Given the description of an element on the screen output the (x, y) to click on. 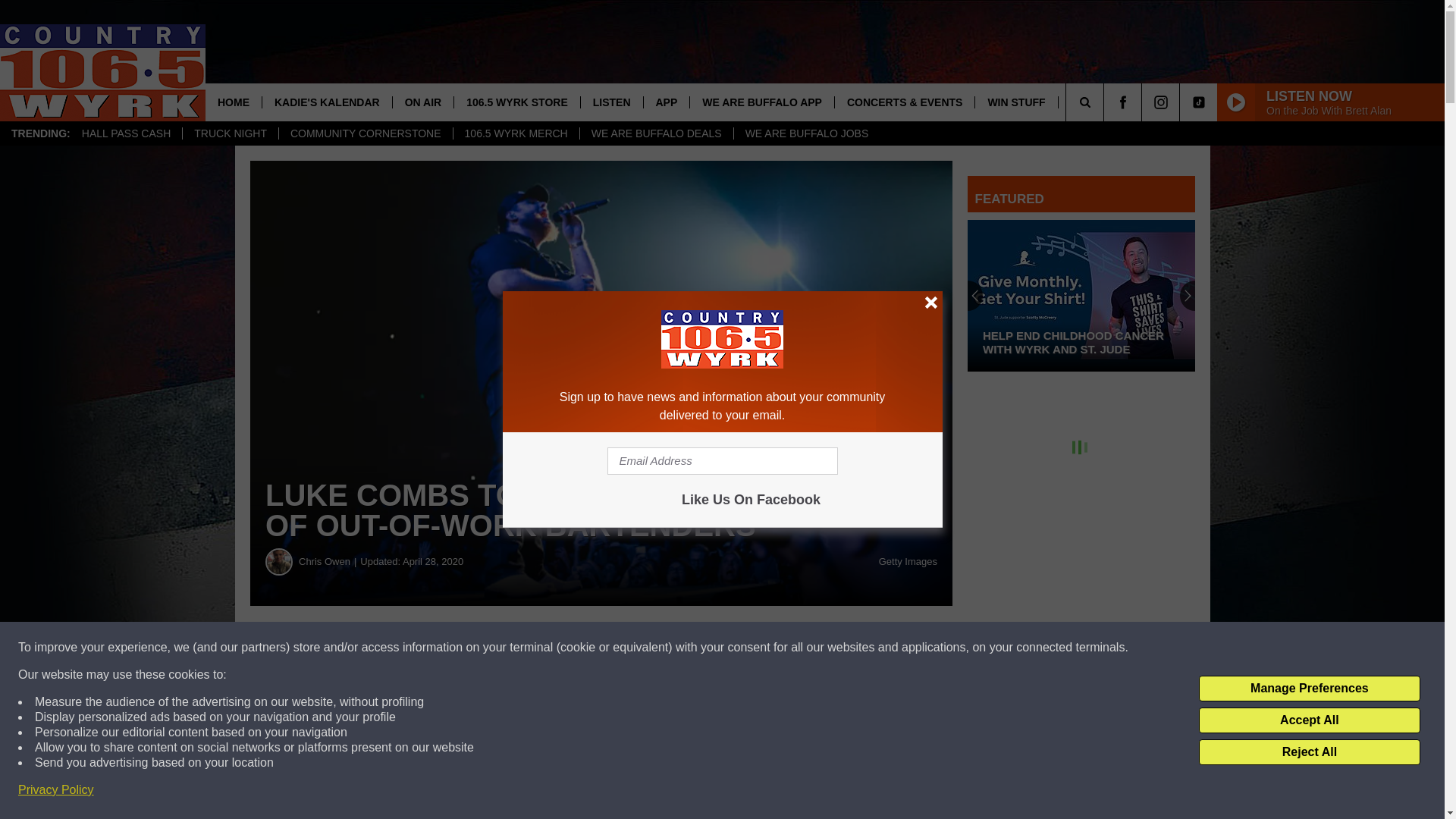
SEARCH (1106, 102)
Manage Preferences (1309, 688)
Email Address (722, 461)
Reject All (1309, 751)
HOME (233, 102)
KADIE'S KALENDAR (326, 102)
COMMUNITY CORNERSTONE (365, 133)
SEARCH (1106, 102)
106.5 WYRK STORE (515, 102)
LISTEN (611, 102)
106.5 WYRK MERCH (515, 133)
Privacy Policy (55, 789)
APP (666, 102)
WE ARE BUFFALO APP (761, 102)
WE ARE BUFFALO DEALS (656, 133)
